Given the description of an element on the screen output the (x, y) to click on. 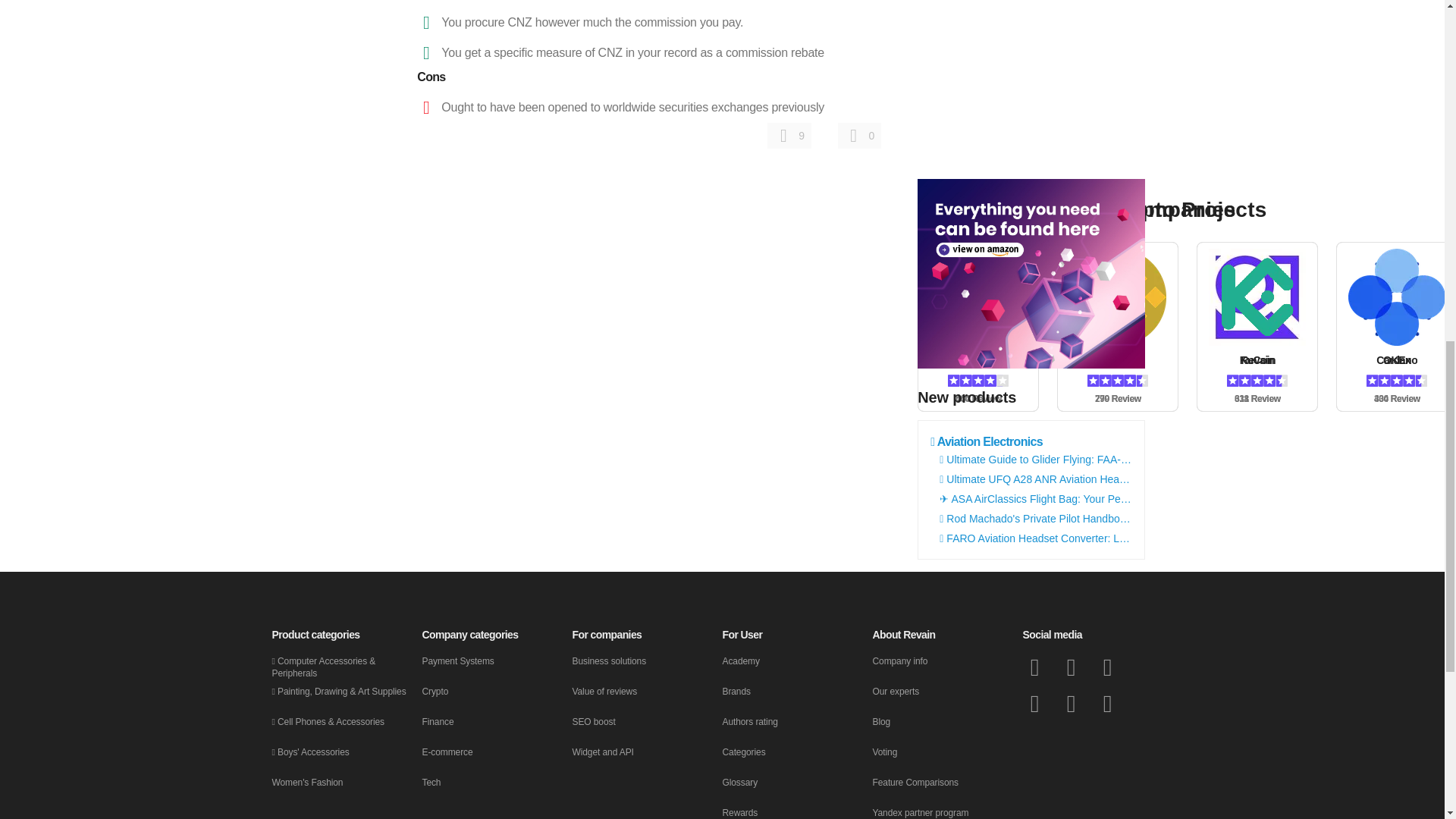
Revain Pinterest (1106, 703)
Revain Facebook (1034, 667)
Please, sign in to perform this action (860, 135)
Revain Twitter (1070, 667)
Revain Telegram group (1106, 667)
 9 (788, 135)
Revain Instagram (1070, 703)
 0 (860, 135)
Revain Telegram channel (1034, 703)
Please, sign in to perform this action (788, 135)
